Given the description of an element on the screen output the (x, y) to click on. 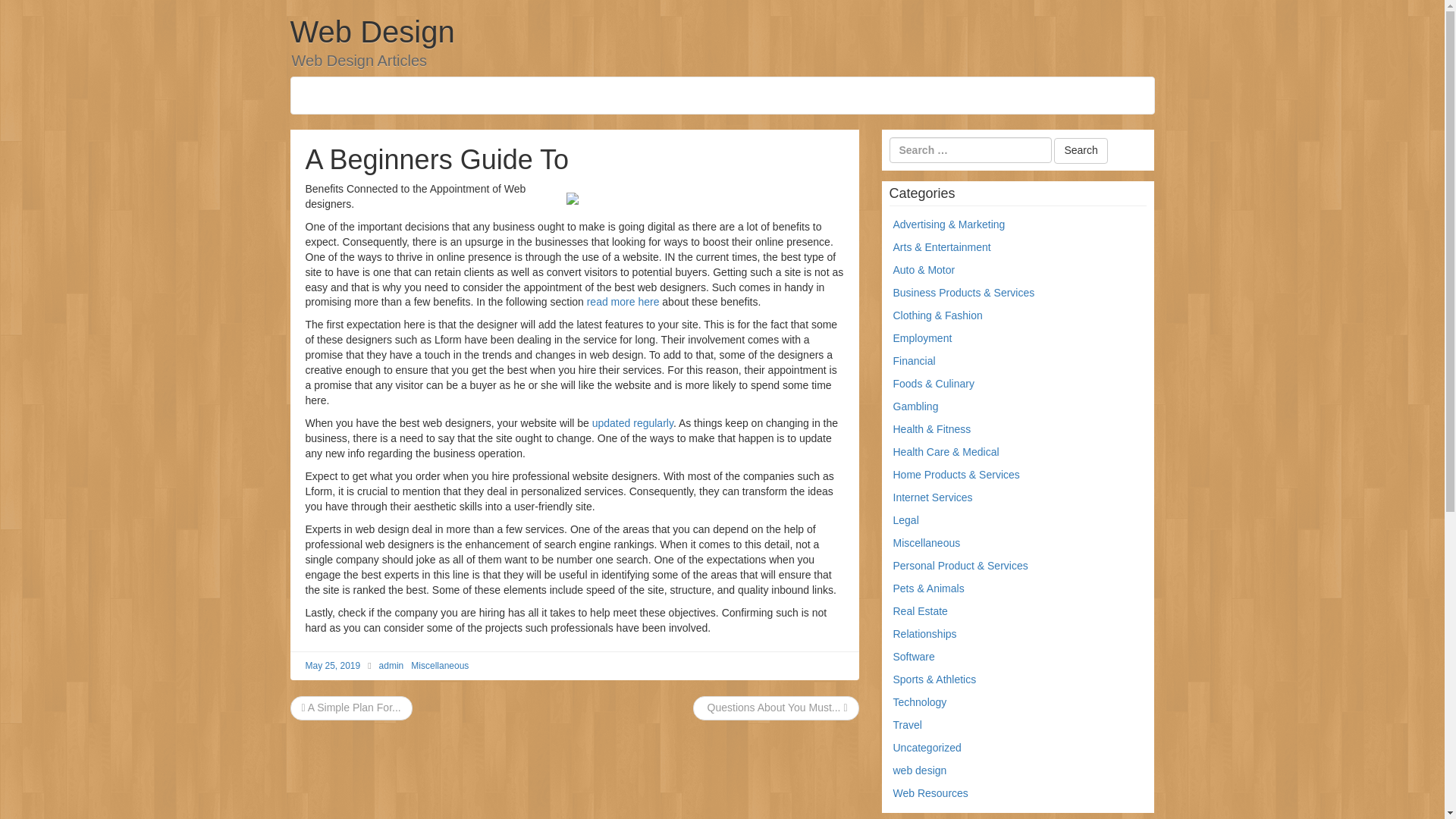
updated regularly (632, 422)
Miscellaneous (439, 665)
Real Estate (920, 611)
Relationships (924, 633)
admin (391, 665)
read more here (622, 301)
Gambling (916, 406)
 A Simple Plan For... (351, 707)
Web Design (371, 31)
Miscellaneous (926, 542)
Technology (920, 702)
web design (920, 770)
Uncategorized (926, 747)
Software (913, 656)
Web Resources (930, 793)
